Given the description of an element on the screen output the (x, y) to click on. 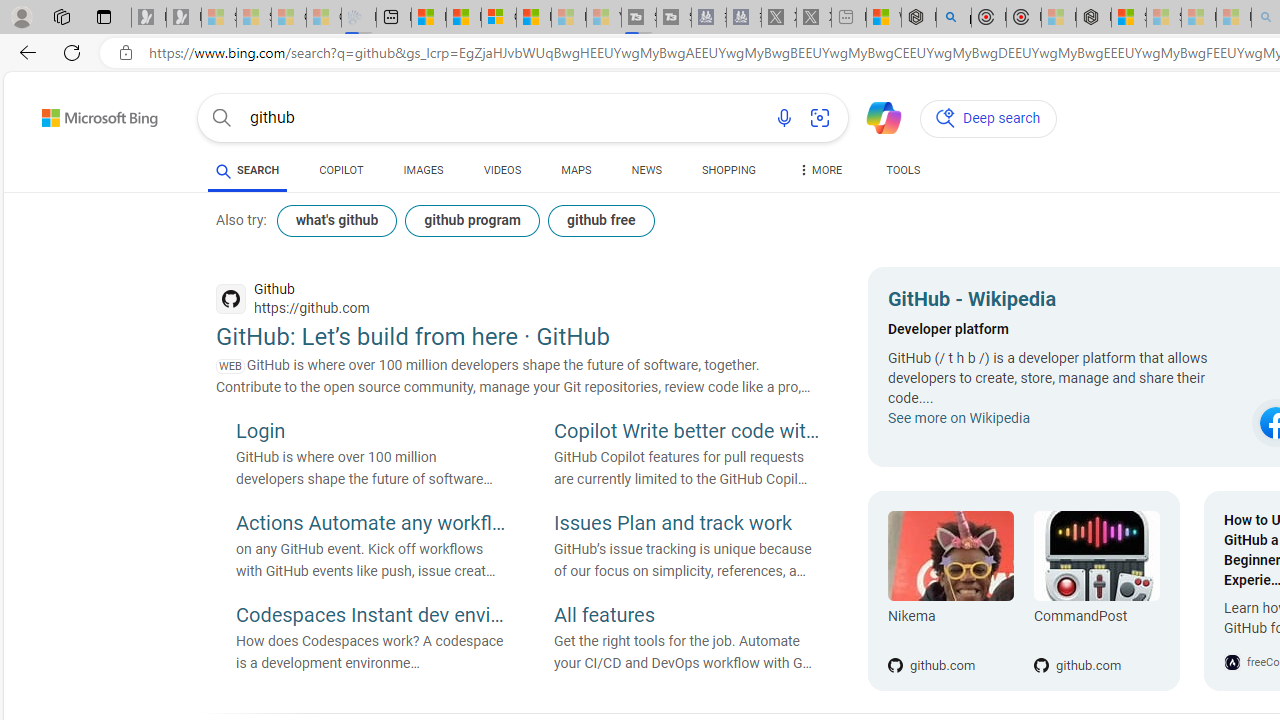
poe - Search (954, 17)
All features (689, 616)
Search using voice (783, 117)
Copilot Write better code with AI (689, 433)
